Given the description of an element on the screen output the (x, y) to click on. 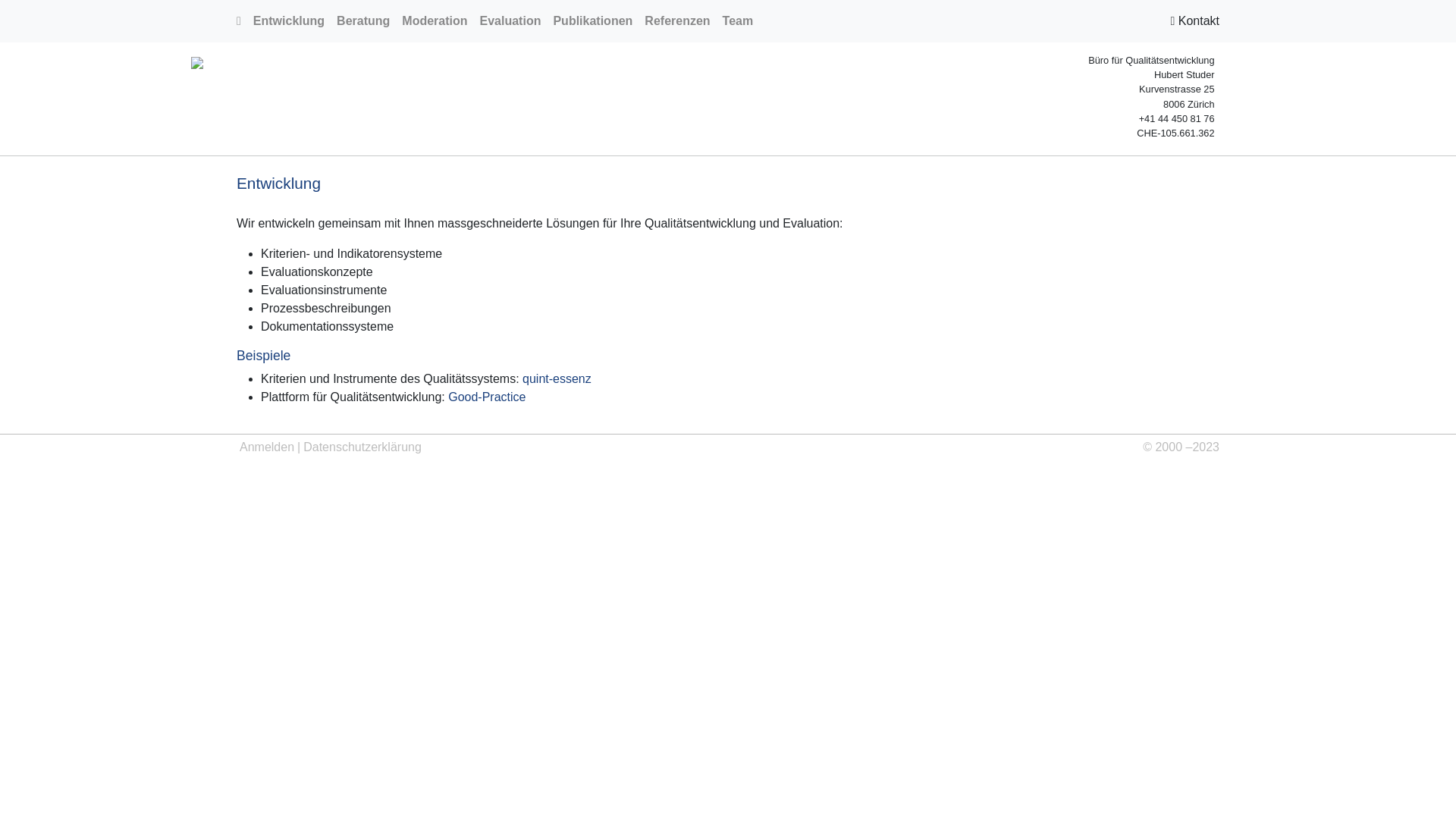
Moderation Element type: text (434, 21)
Evaluation Element type: text (510, 21)
Referenzen Element type: text (676, 21)
quint-essenz Element type: text (556, 378)
Anmelden Element type: text (266, 447)
Beratung Element type: text (362, 21)
Good-Practice Element type: text (486, 396)
Entwicklung Element type: text (288, 21)
Publikationen Element type: text (592, 21)
Kontakt Element type: text (1194, 21)
Team Element type: text (737, 21)
